Given the description of an element on the screen output the (x, y) to click on. 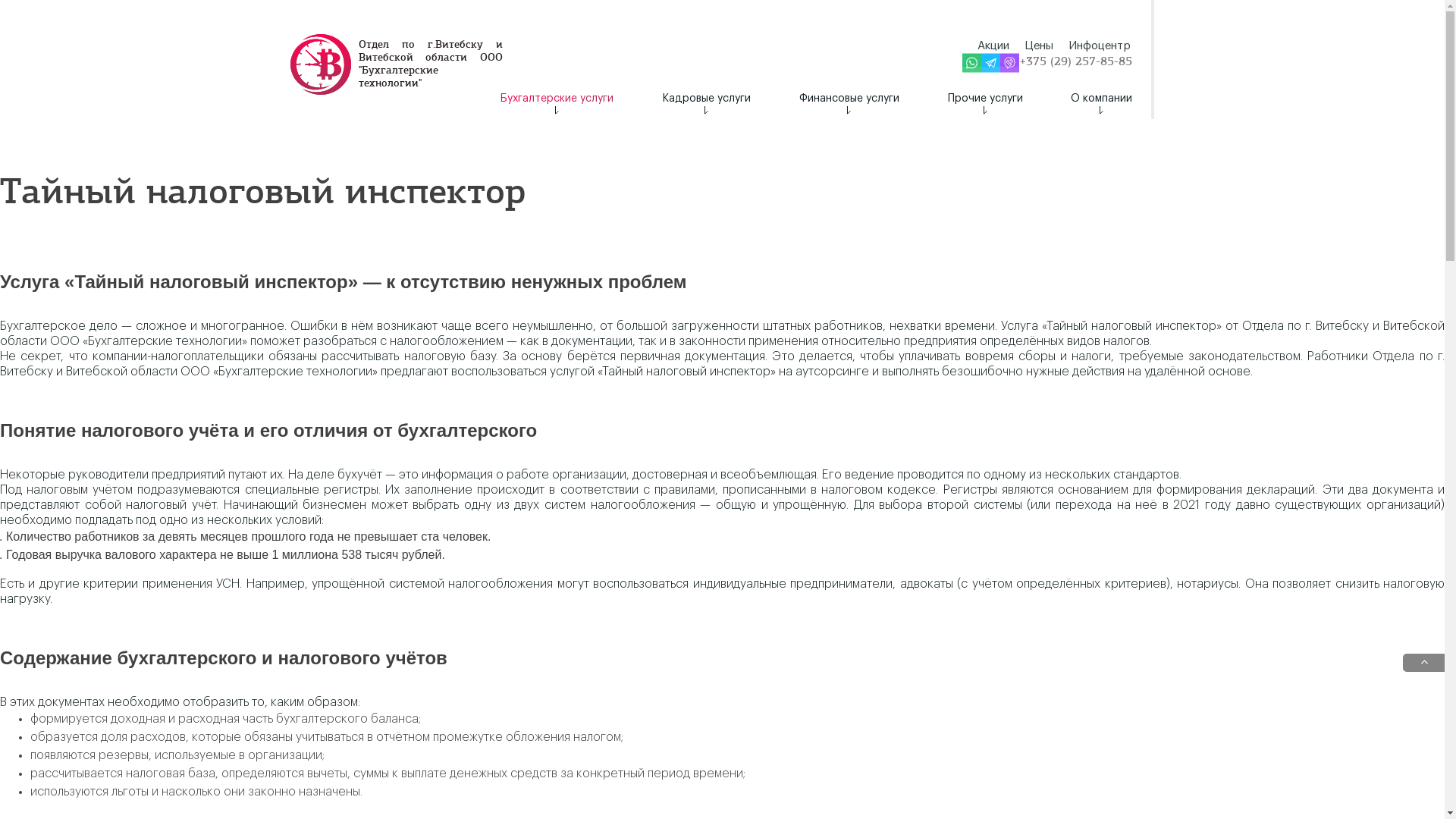
+375 (29) 257-85-85 Element type: text (1075, 62)
